Given the description of an element on the screen output the (x, y) to click on. 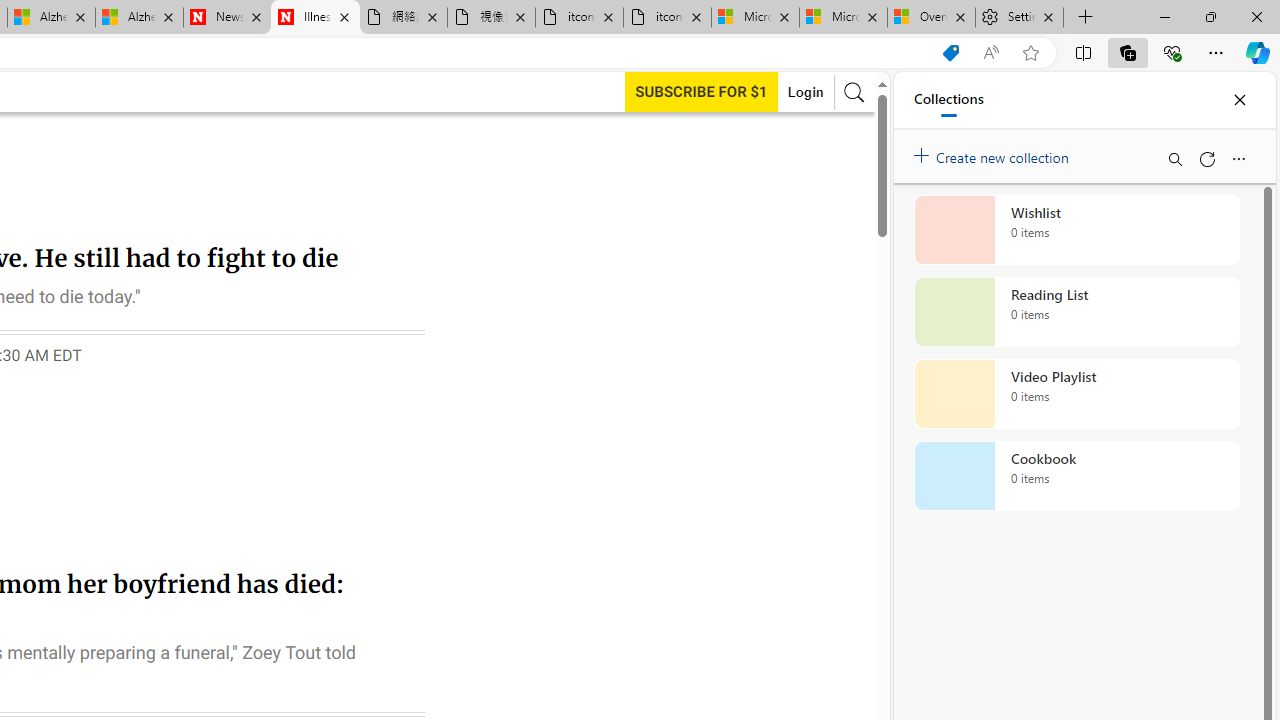
Login (805, 92)
Wishlist collection, 0 items (1076, 229)
itconcepthk.com/projector_solutions.mp4 (666, 17)
More options menu (1238, 158)
Cookbook collection, 0 items (1076, 475)
Create new collection (994, 153)
